Given the description of an element on the screen output the (x, y) to click on. 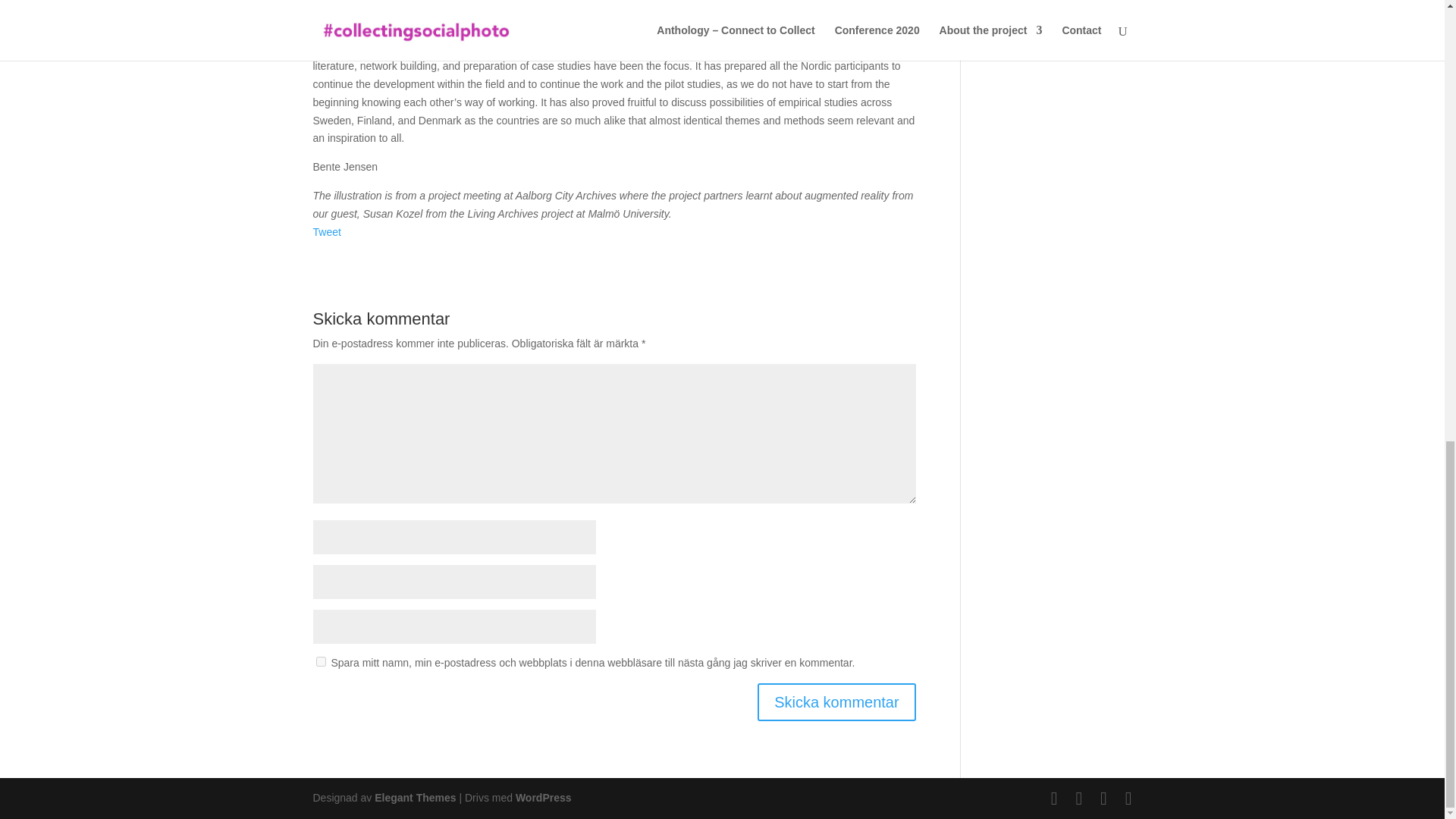
WordPress (543, 797)
Skicka kommentar (836, 702)
yes (319, 661)
Skicka kommentar (836, 702)
Tweet (326, 232)
Elegant Themes (414, 797)
Premium WordPress Themes (414, 797)
